Given the description of an element on the screen output the (x, y) to click on. 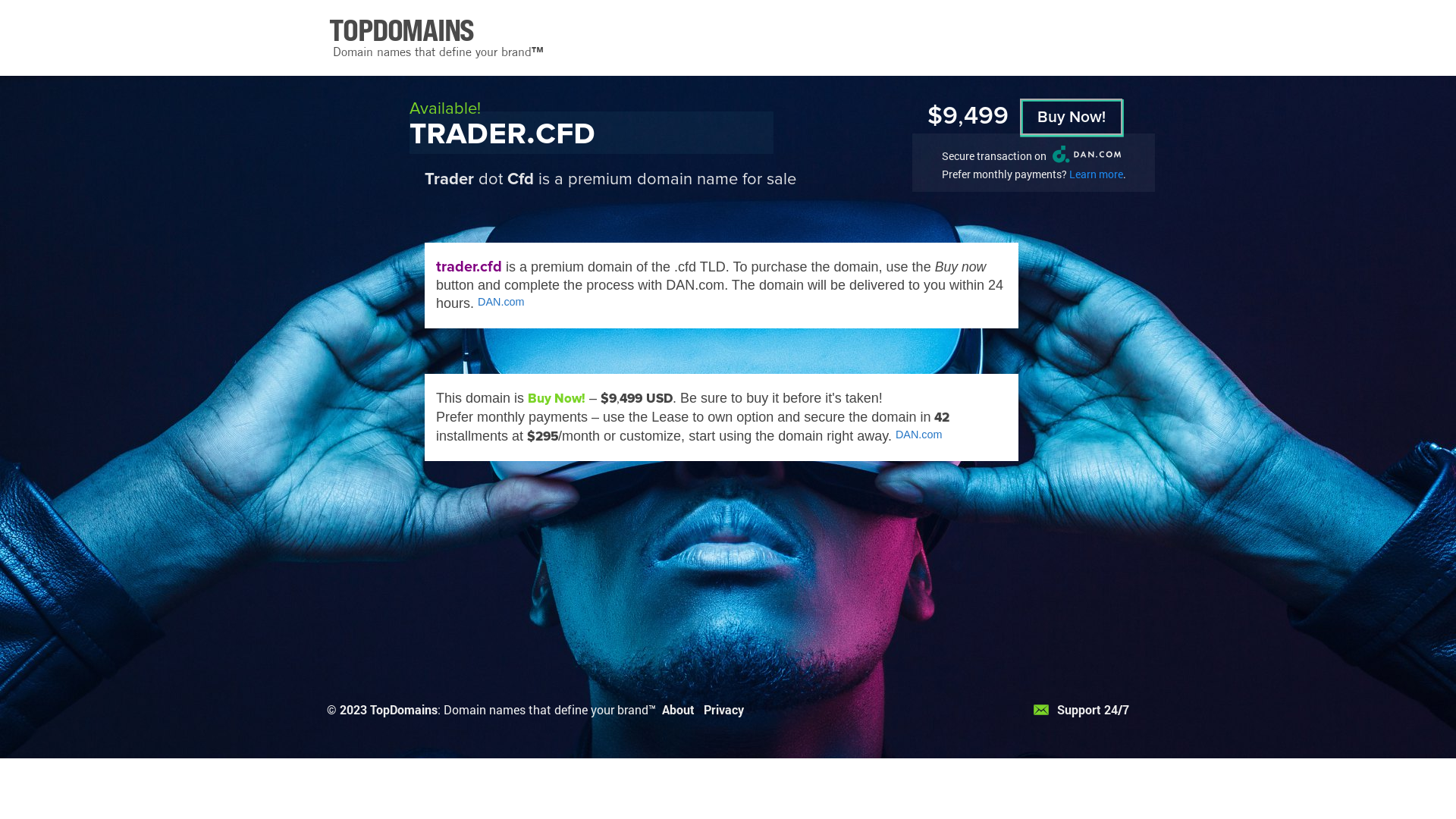
About Element type: text (678, 709)
Buy Now! Element type: text (1070, 116)
Support 24/7 Element type: text (1081, 709)
DAN.com Element type: text (918, 434)
DAN.com Element type: text (500, 301)
TopDomains Element type: text (403, 709)
Learn more Element type: text (1096, 173)
Privacy Element type: text (723, 709)
